Given the description of an element on the screen output the (x, y) to click on. 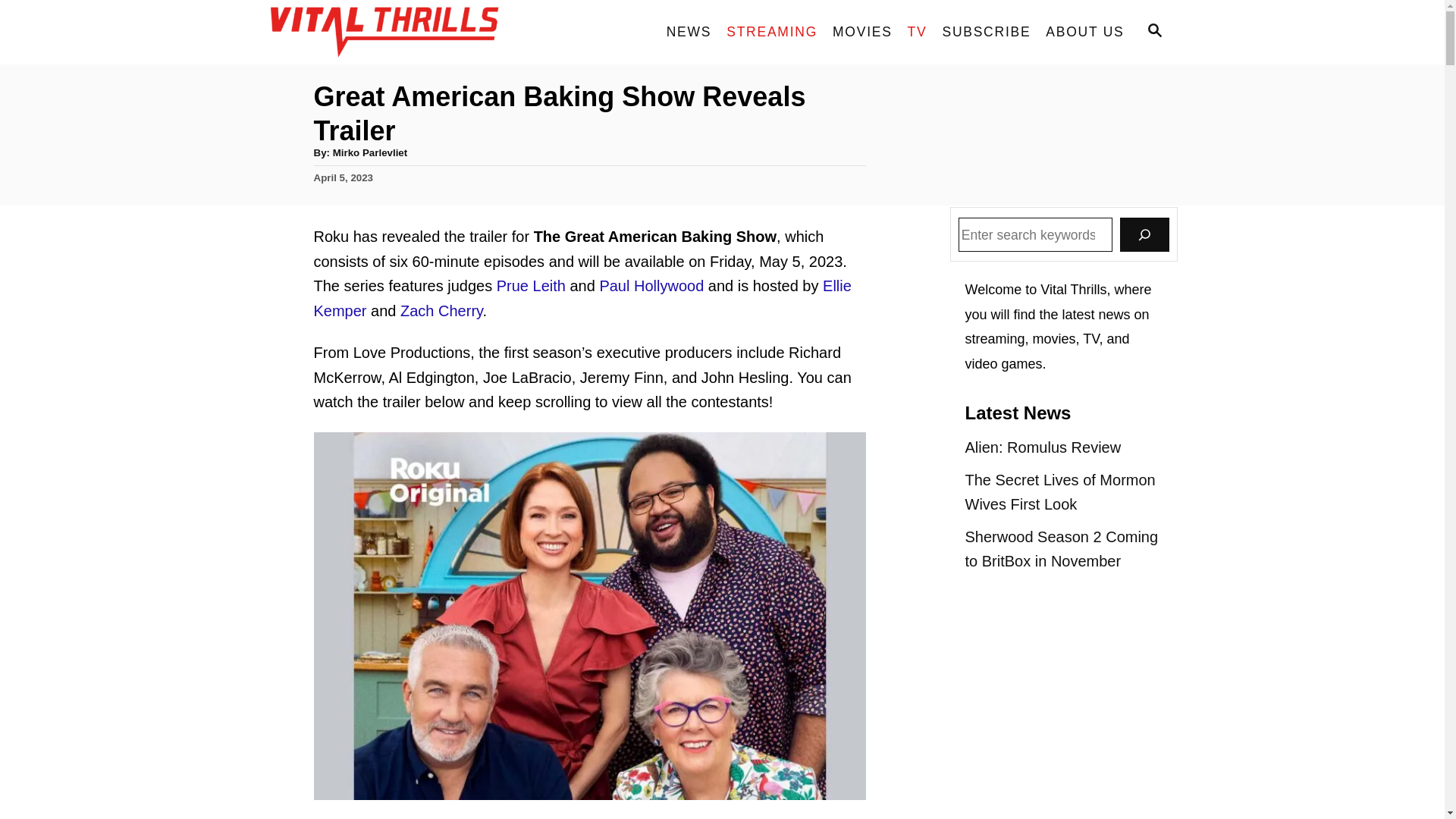
Vital Thrills (403, 32)
Mirko Parlevliet (370, 152)
Alien: Romulus Review (1062, 447)
Zach Cherry (441, 310)
Prue Leith (531, 285)
TV (916, 32)
SEARCH (1153, 31)
Ellie Kemper (582, 298)
SUBSCRIBE (986, 32)
Paul Hollywood (650, 285)
